Given the description of an element on the screen output the (x, y) to click on. 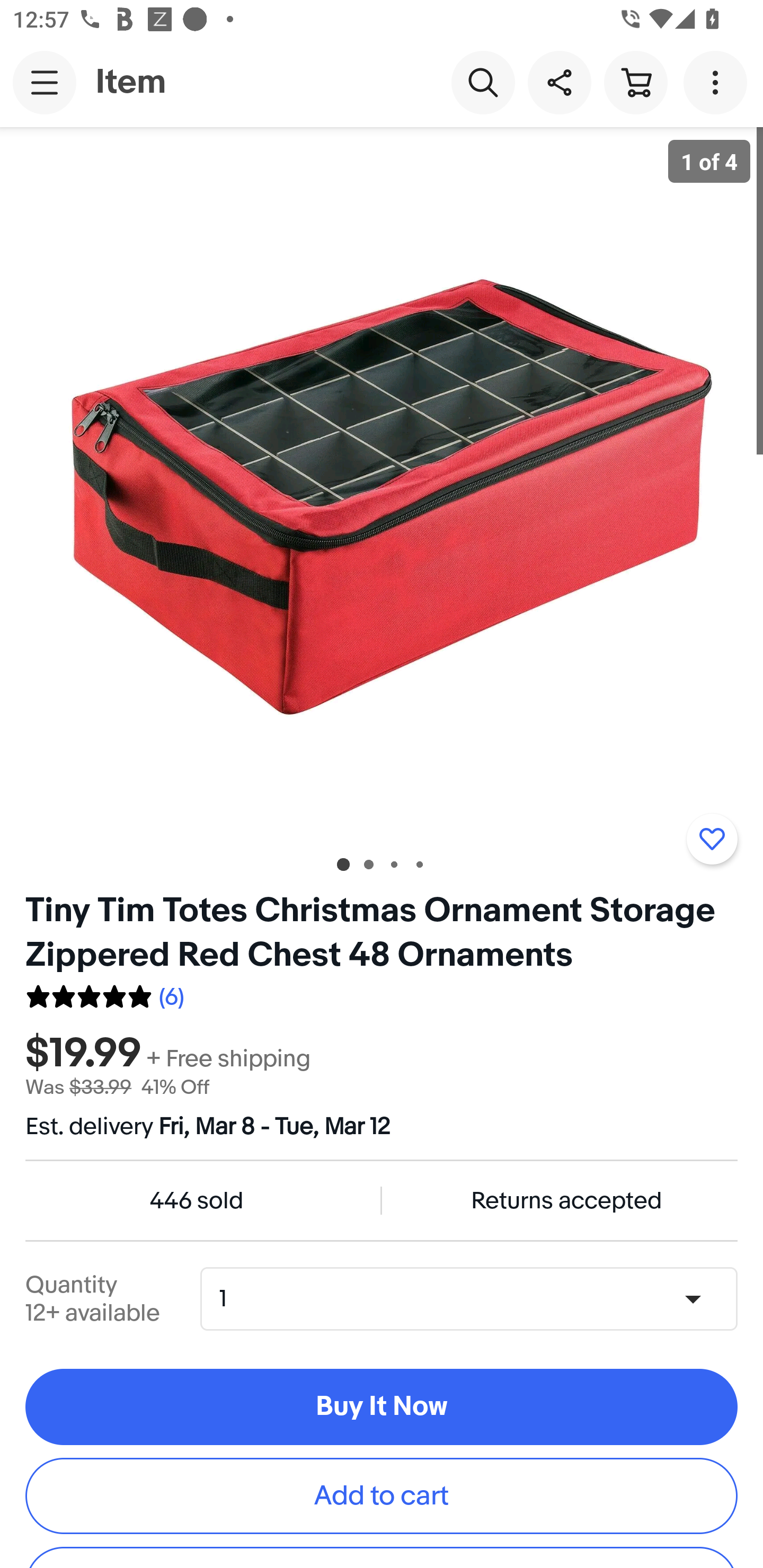
Main navigation, open (44, 82)
Search (482, 81)
Share this item (559, 81)
Cart button shopping cart (635, 81)
More options (718, 81)
Item image 1 of 4 (381, 482)
Add to watchlist (711, 838)
6 reviews. Average rating 5.0 out of five 10.0 (6) (104, 993)
Quantity,1,12+ available 1 (474, 1298)
Buy It Now (381, 1406)
Add to cart (381, 1495)
